Given the description of an element on the screen output the (x, y) to click on. 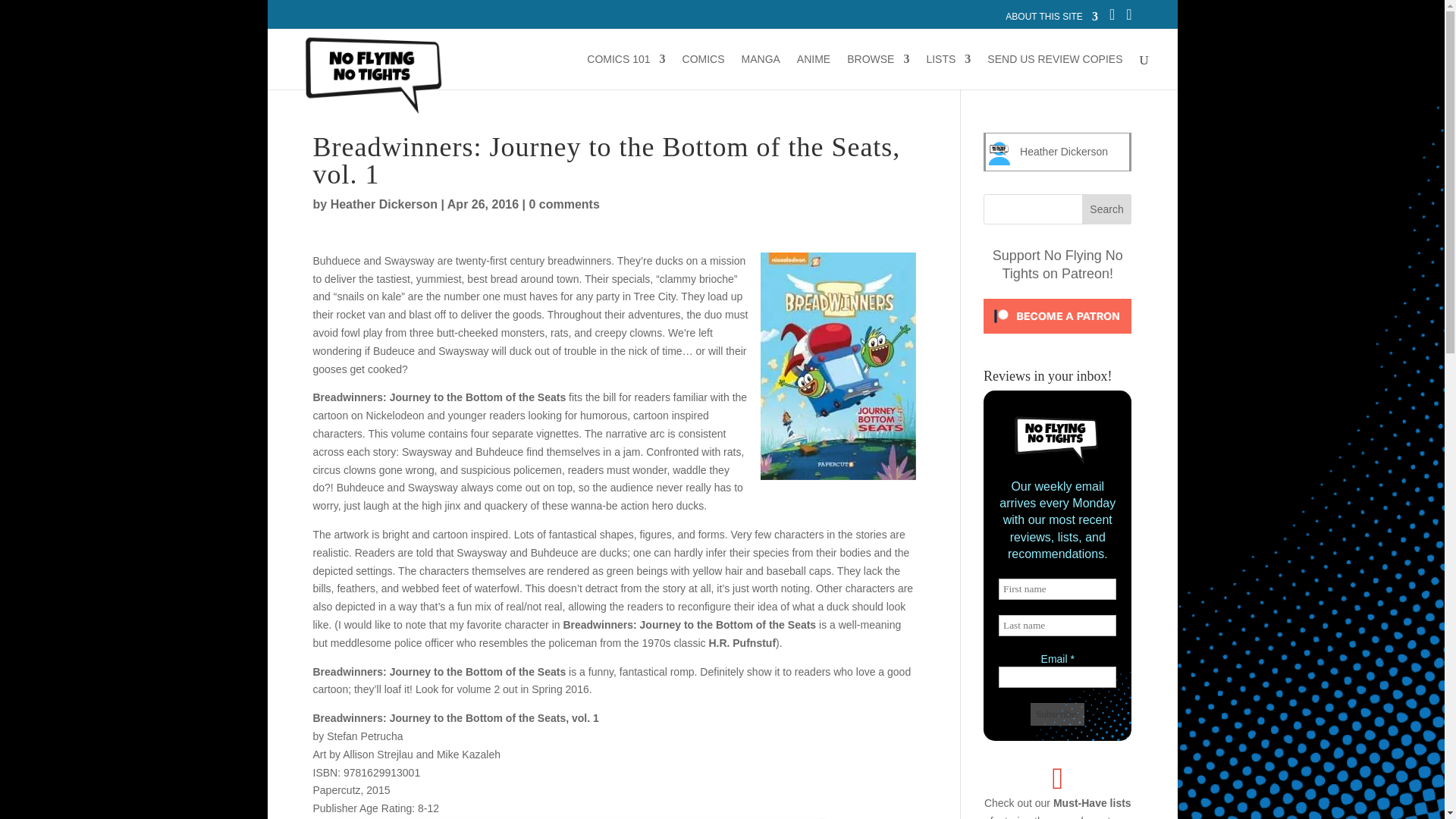
Last name (1057, 625)
Subscribe! (1057, 713)
First name (1057, 588)
LISTS (948, 71)
SEND US REVIEW COPIES (1054, 71)
Email (1057, 676)
MANGA (760, 71)
ABOUT THIS SITE (1051, 19)
COMICS 101 (625, 71)
ANIME (812, 71)
